Given the description of an element on the screen output the (x, y) to click on. 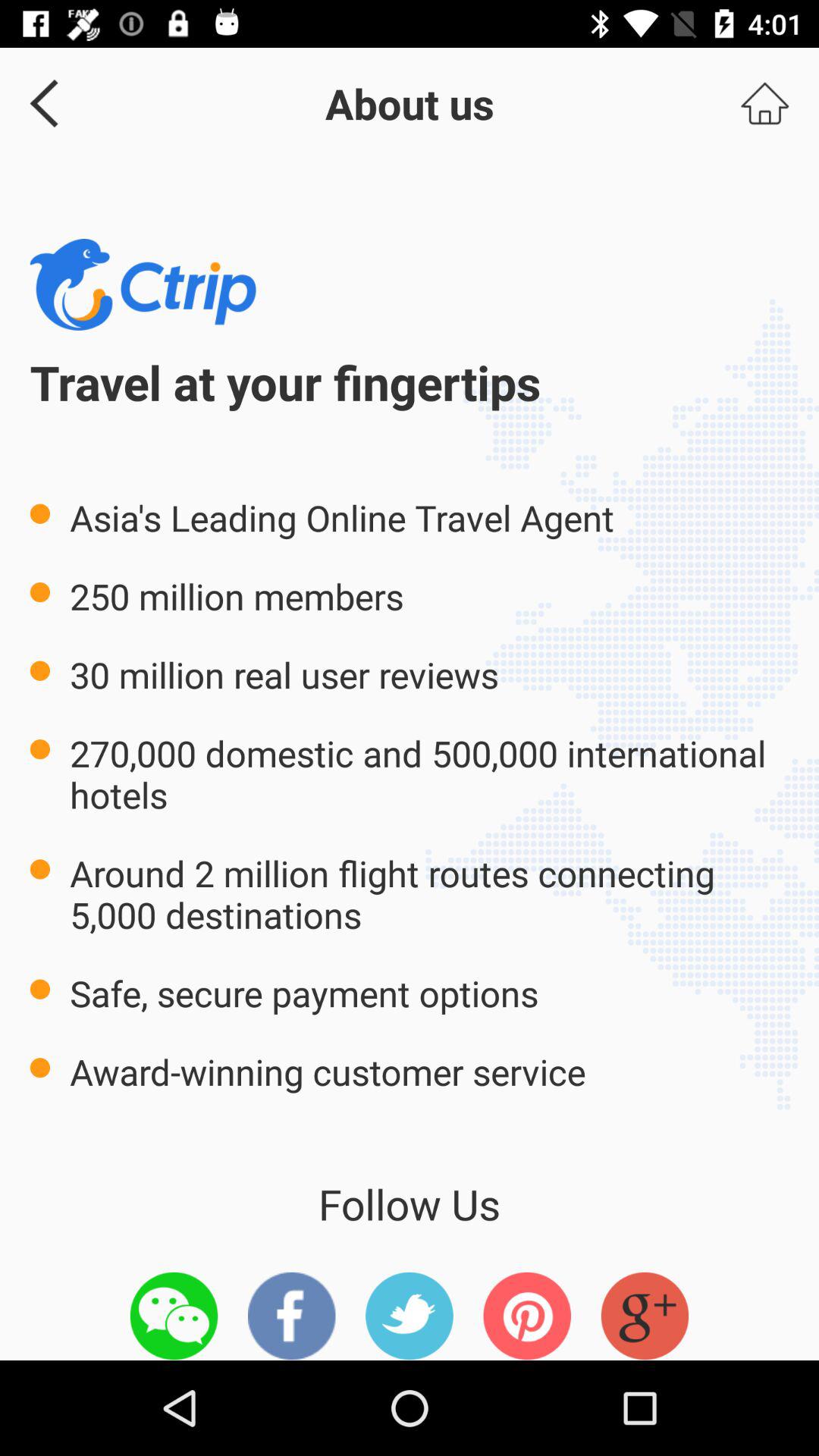
open the item at the top right corner (764, 103)
